Given the description of an element on the screen output the (x, y) to click on. 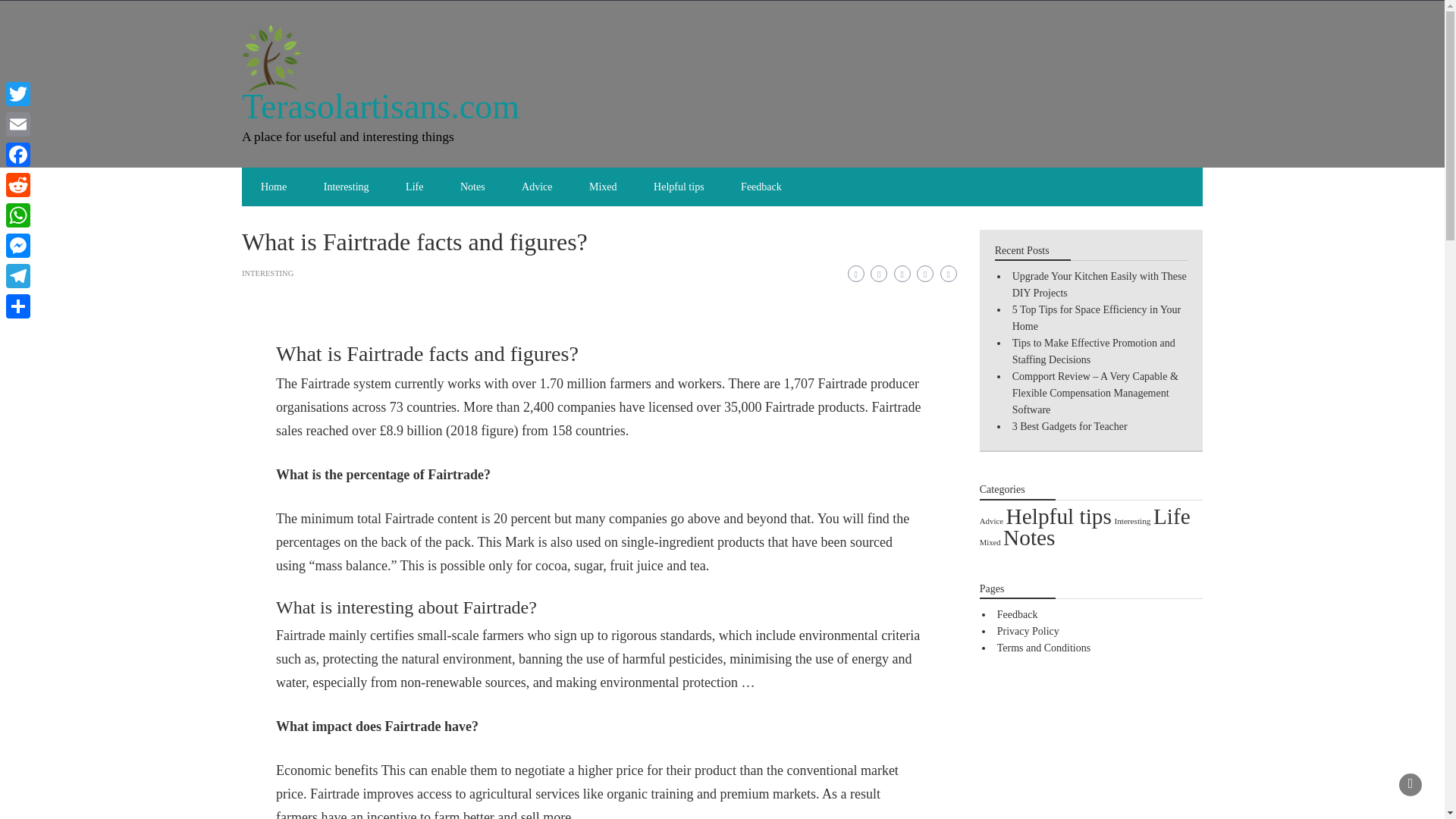
Home (273, 186)
Email (17, 123)
Mixed (602, 186)
Feedback (760, 186)
Upgrade Your Kitchen Easily with These DIY Projects (1098, 284)
Advice (536, 186)
Twitter (17, 93)
Tips to Make Effective Promotion and Staffing Decisions (1092, 351)
Reddit (17, 184)
Interesting (1131, 520)
Life (1172, 516)
INTERESTING (267, 273)
Notes (472, 186)
Interesting (346, 186)
WhatsApp (17, 214)
